Given the description of an element on the screen output the (x, y) to click on. 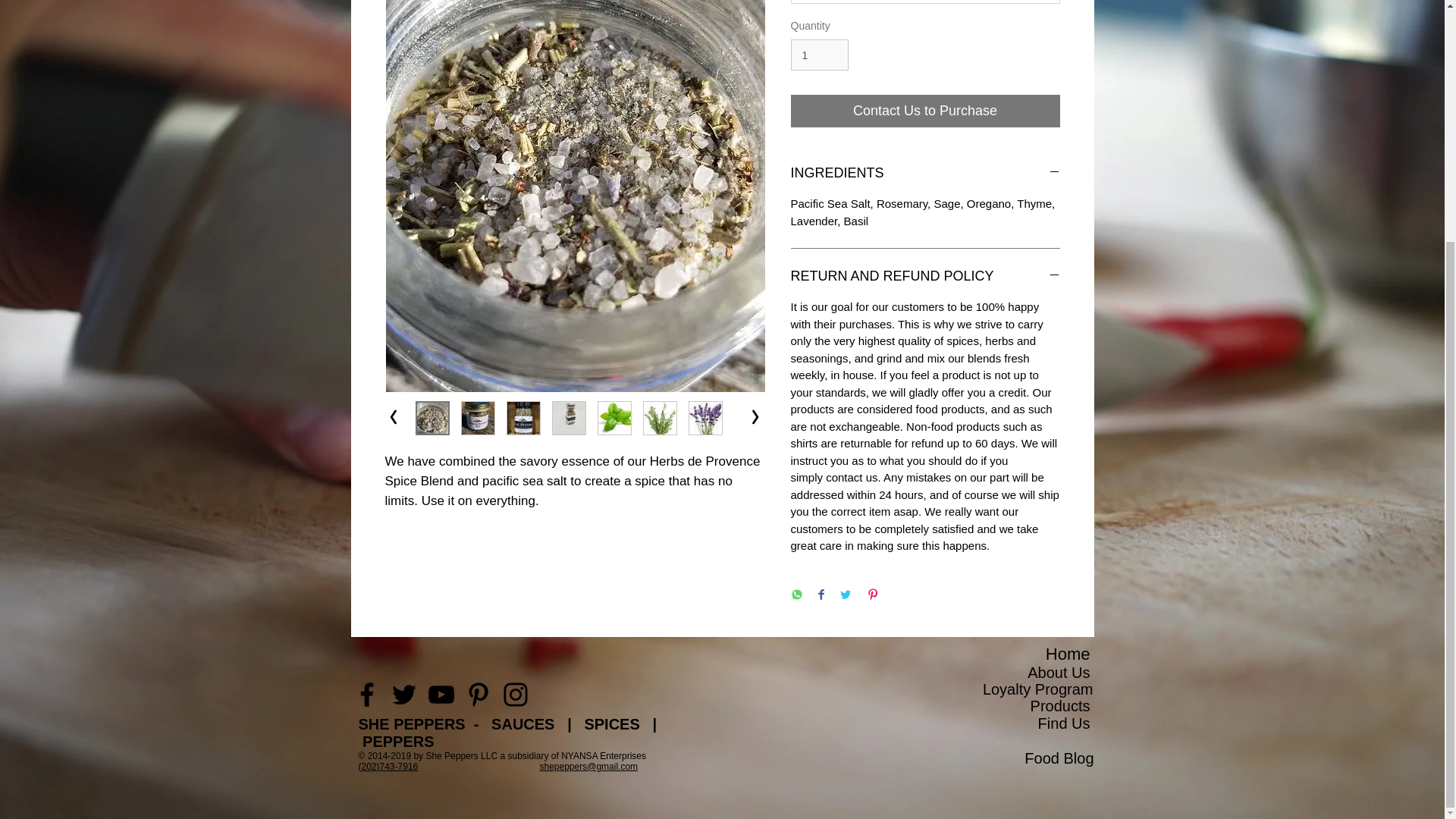
1 (818, 54)
INGREDIENTS (924, 172)
Contact Us to Purchase (924, 111)
Home (1067, 653)
RETURN AND REFUND POLICY (924, 275)
Select (924, 2)
